Given the description of an element on the screen output the (x, y) to click on. 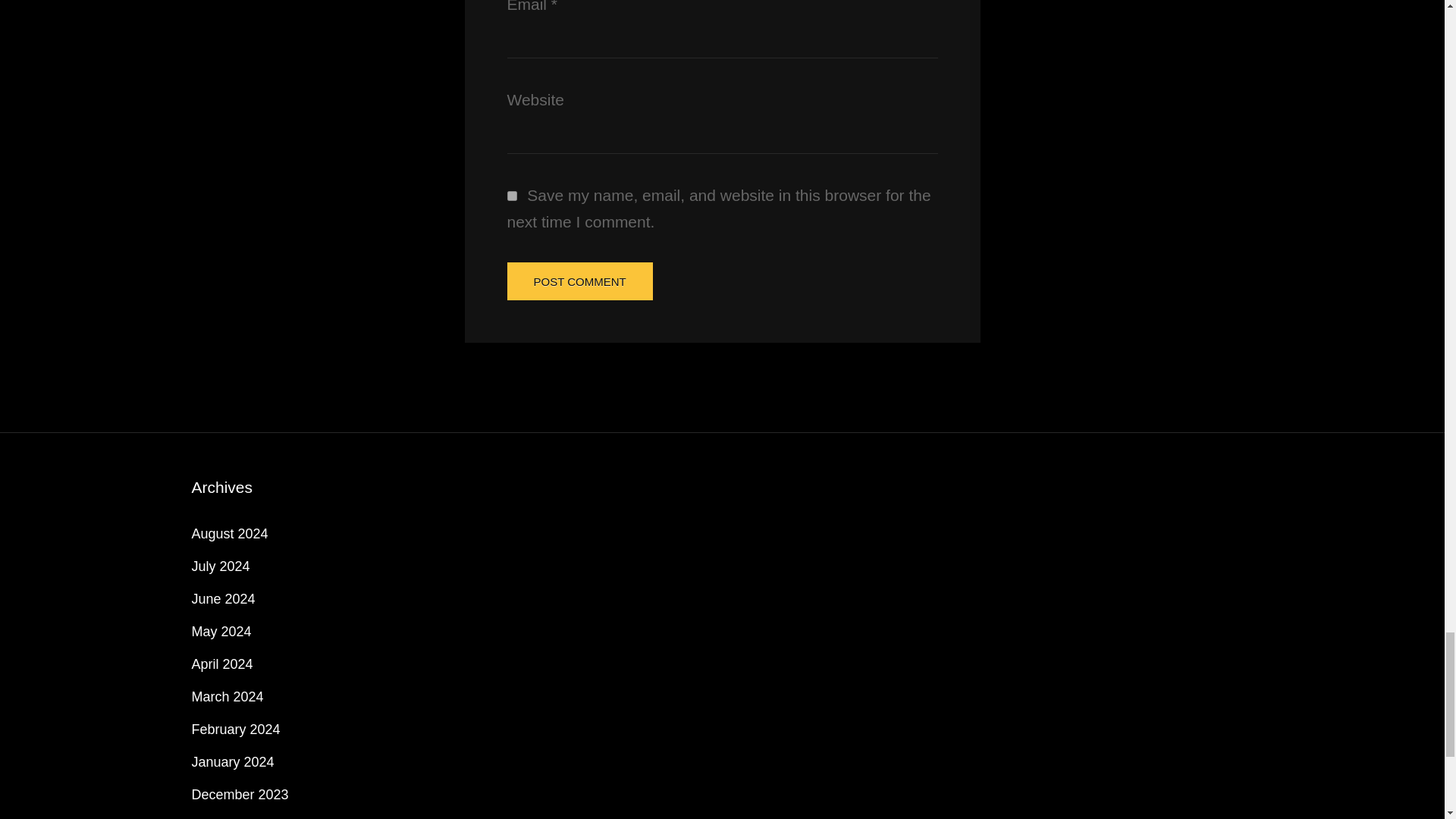
yes (511, 195)
April 2024 (220, 663)
August 2024 (228, 533)
February 2024 (234, 729)
December 2023 (239, 794)
July 2024 (219, 566)
June 2024 (222, 598)
March 2024 (226, 696)
Post Comment (579, 281)
January 2024 (231, 761)
